Given the description of an element on the screen output the (x, y) to click on. 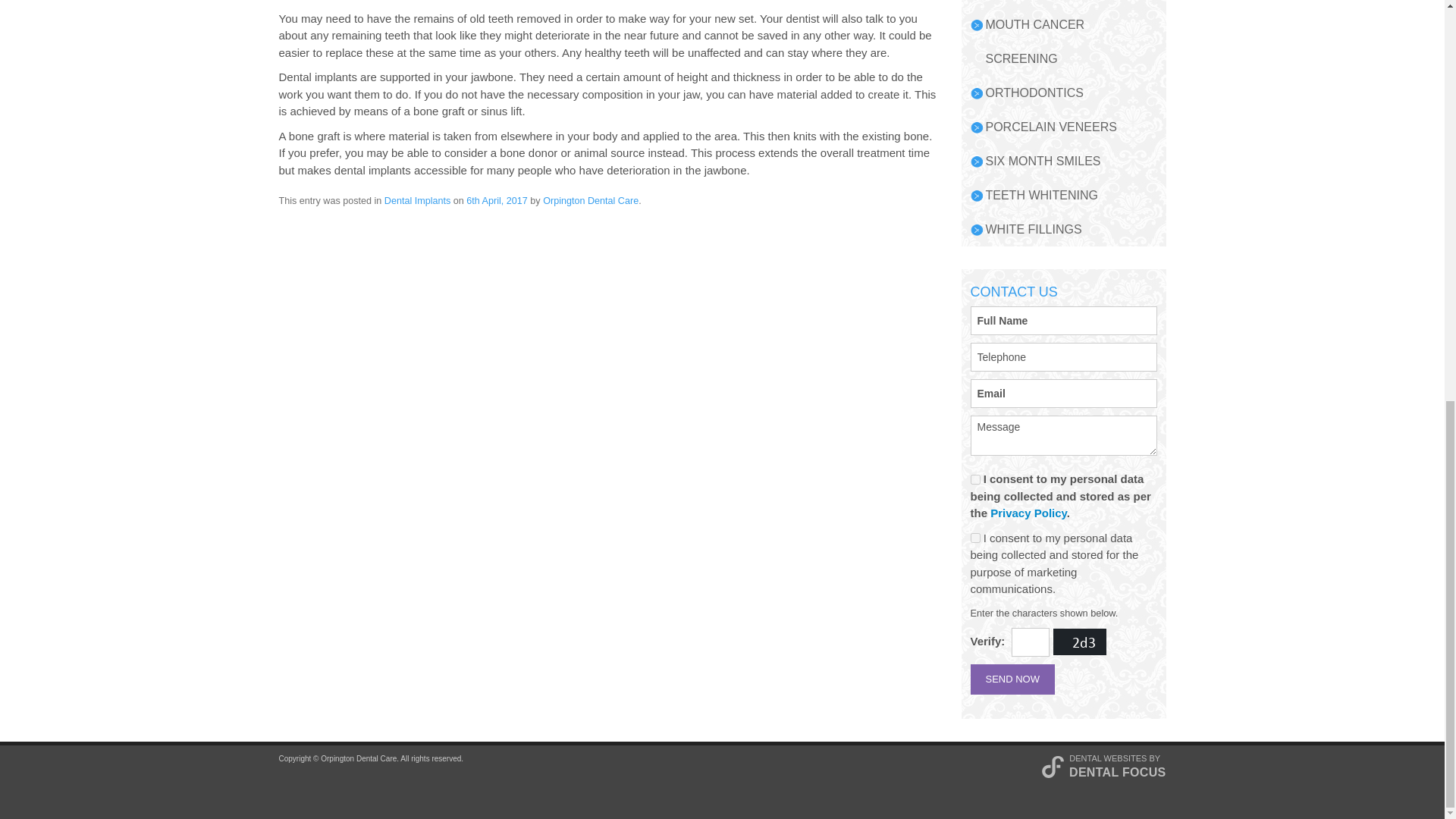
PORCELAIN VENEERS (1071, 126)
DENTAL FOCUS (1117, 772)
Send Now (1013, 679)
Dental Implants (417, 201)
Send Now (1013, 679)
WHITE FILLINGS (1071, 229)
6:17 am (496, 201)
MOUTH CANCER SCREENING (1071, 41)
Email (1064, 393)
Full Name (1064, 320)
